Given the description of an element on the screen output the (x, y) to click on. 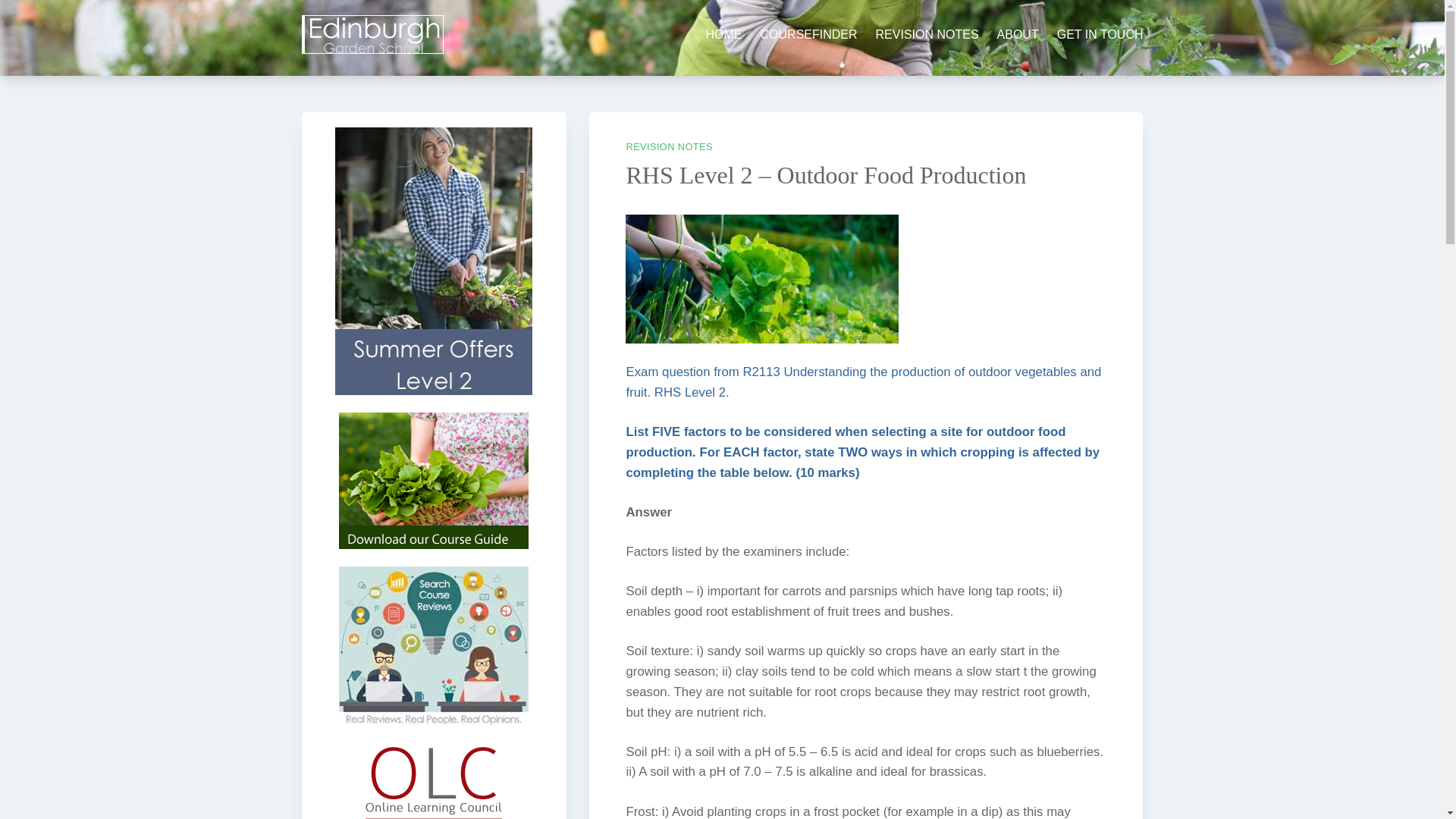
ABOUT (1018, 35)
REVISION NOTES (668, 146)
GET IN TOUCH (1099, 35)
HOME (724, 35)
COURSEFINDER (808, 35)
REVISION NOTES (927, 35)
